Given the description of an element on the screen output the (x, y) to click on. 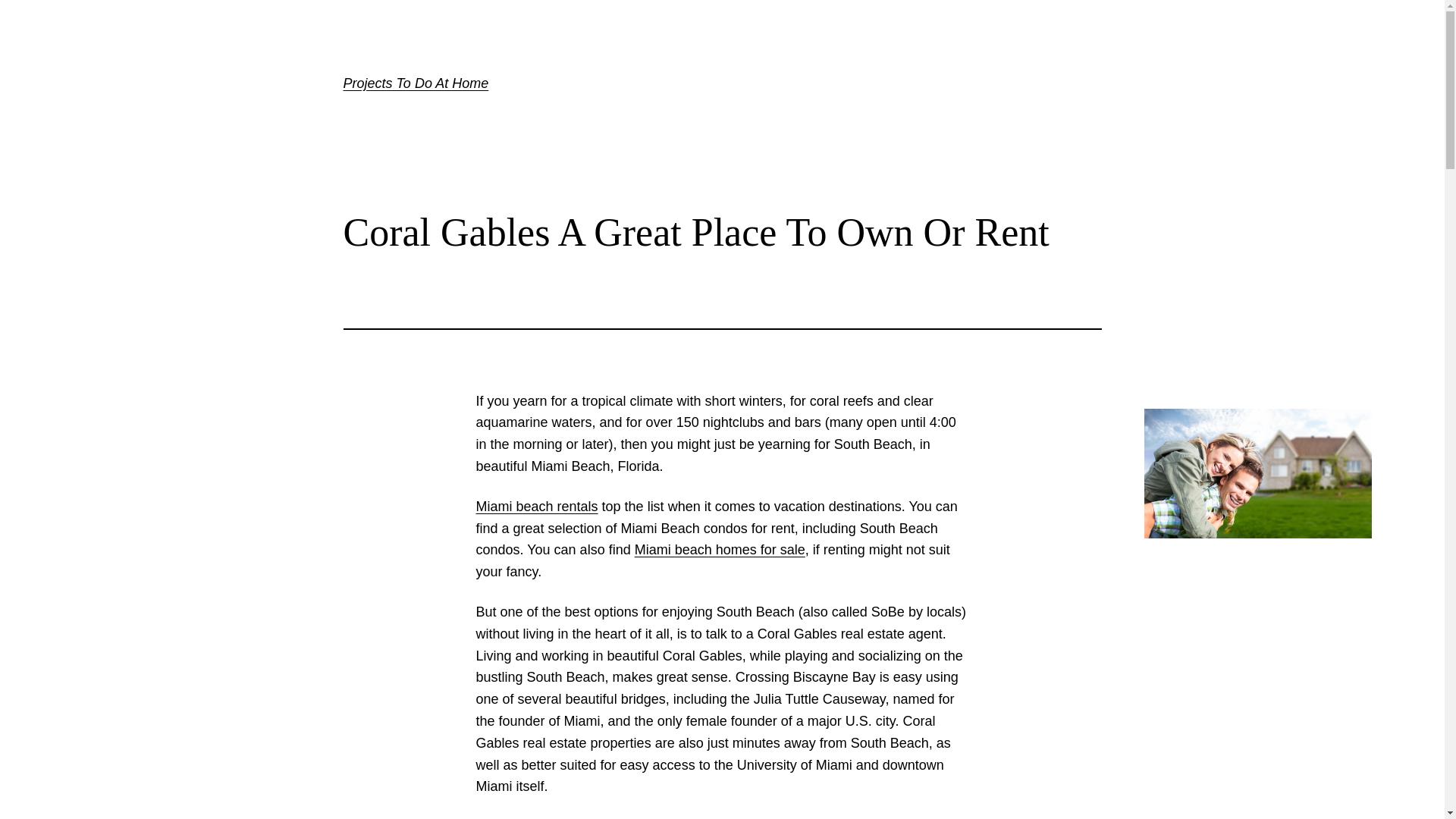
Projects To Do At Home (414, 83)
Find more info about Miami beach real estate (719, 549)
Something similar (537, 506)
Miami beach rentals (537, 506)
Miami beach homes for sale (719, 549)
